Given the description of an element on the screen output the (x, y) to click on. 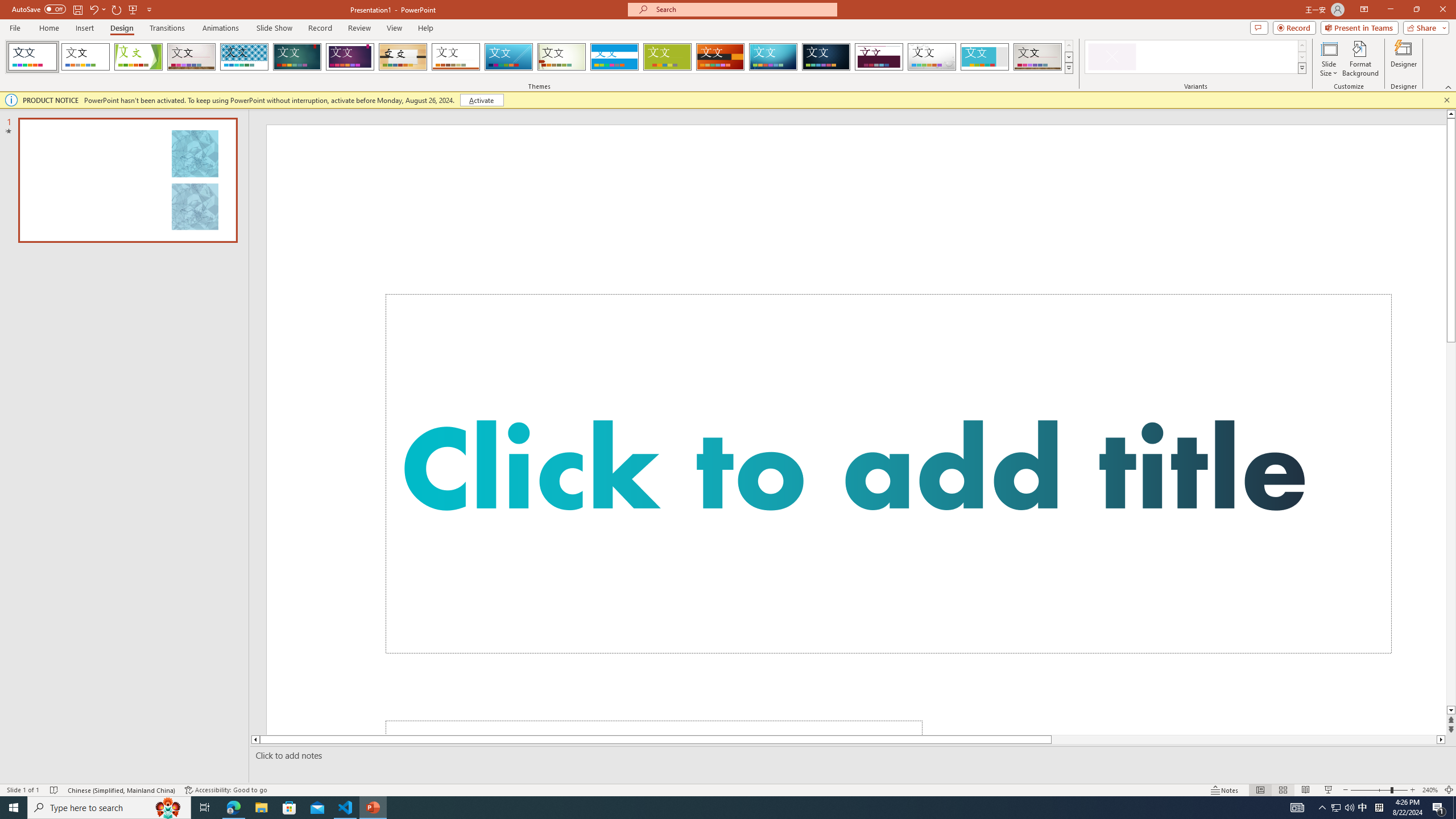
Wisp (561, 56)
Zoom In (1412, 790)
Subtitle TextBox (654, 727)
View (395, 28)
Integral (244, 56)
Reading View (1305, 790)
Ion Boardroom (350, 56)
Slide Show (1328, 790)
Insert (83, 28)
